Given the description of an element on the screen output the (x, y) to click on. 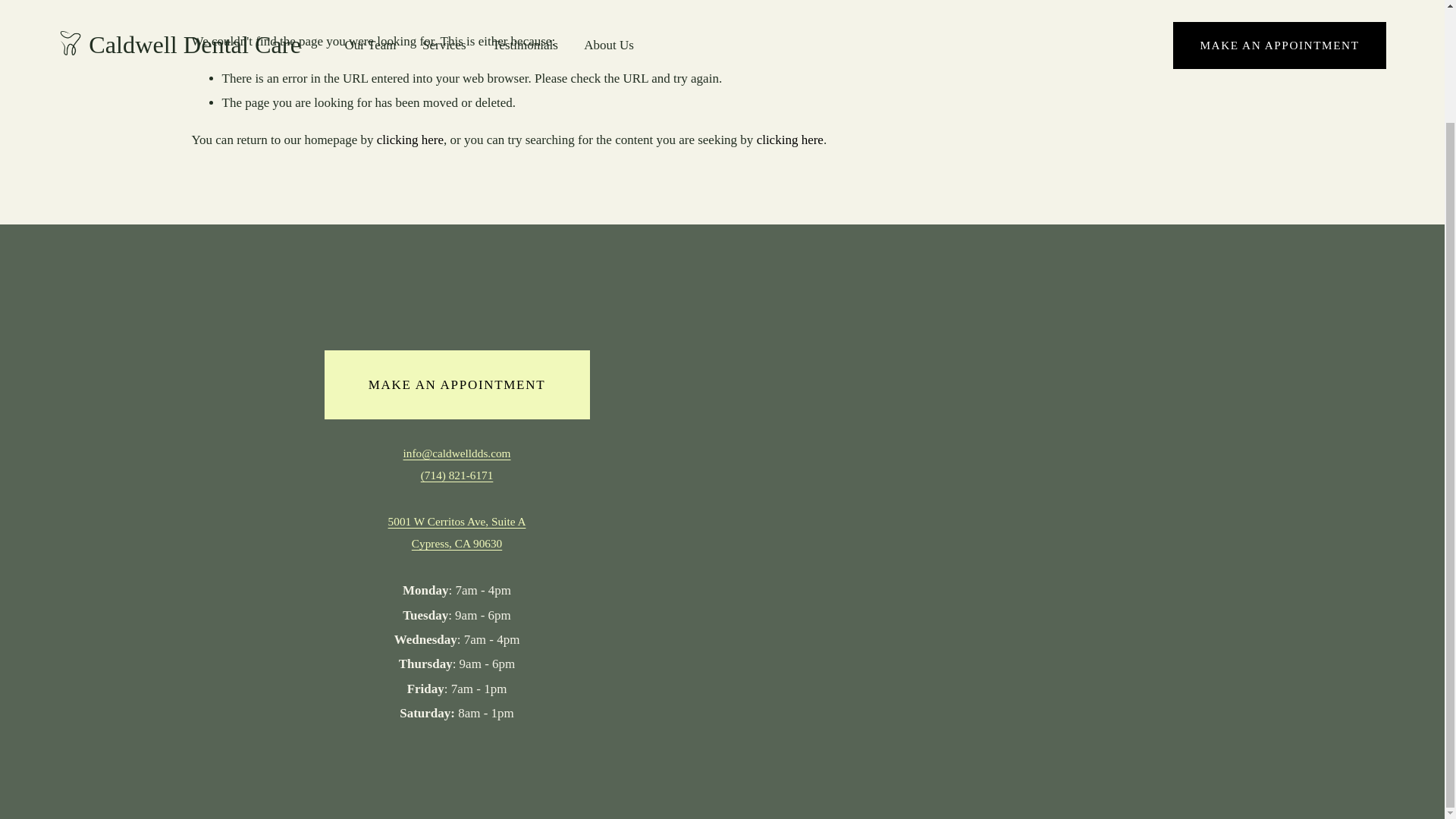
clicking here (410, 139)
clicking here (790, 139)
MAKE AN APPOINTMENT (456, 384)
